Given the description of an element on the screen output the (x, y) to click on. 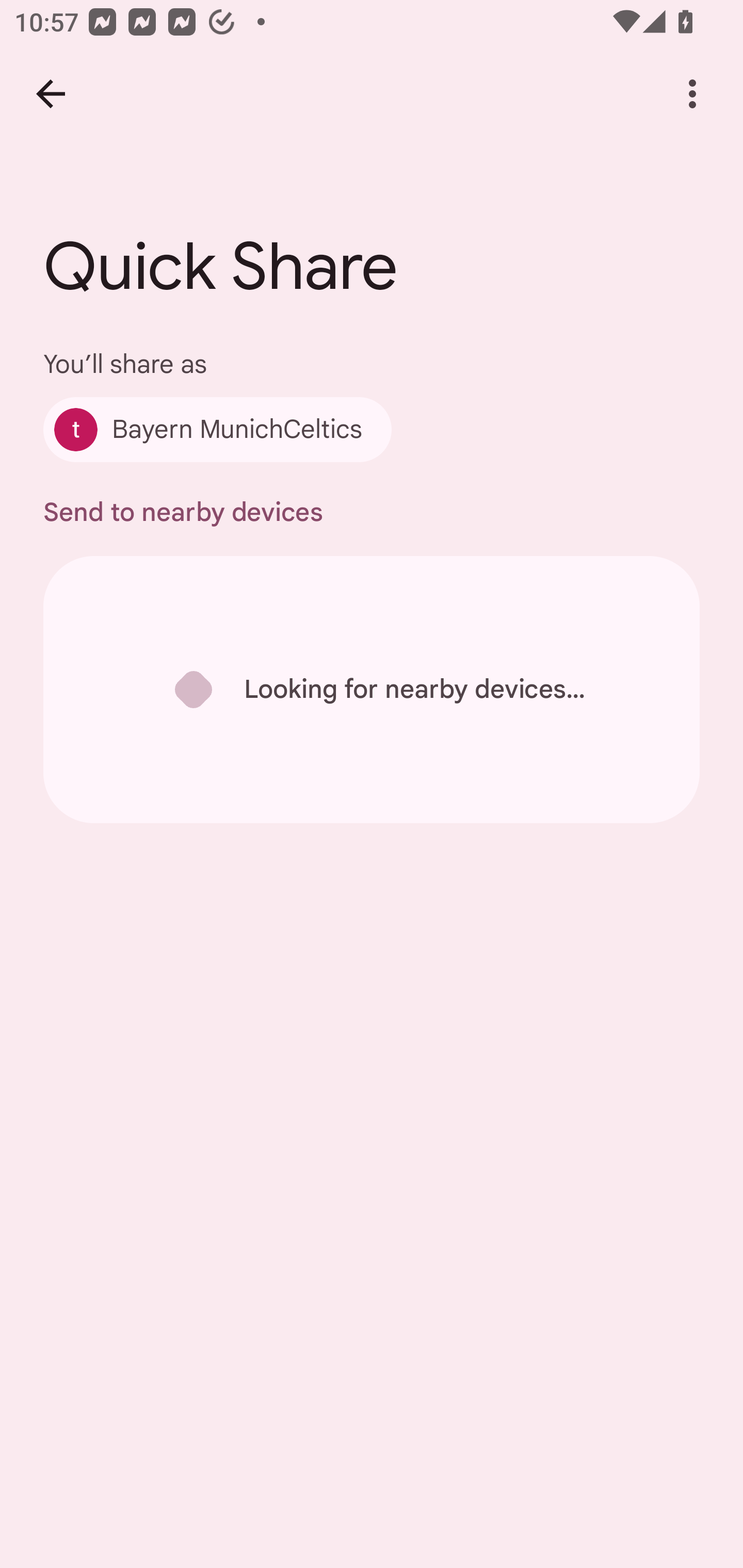
Back (50, 93)
More (692, 93)
Bayern MunichCeltics (217, 429)
